Given the description of an element on the screen output the (x, y) to click on. 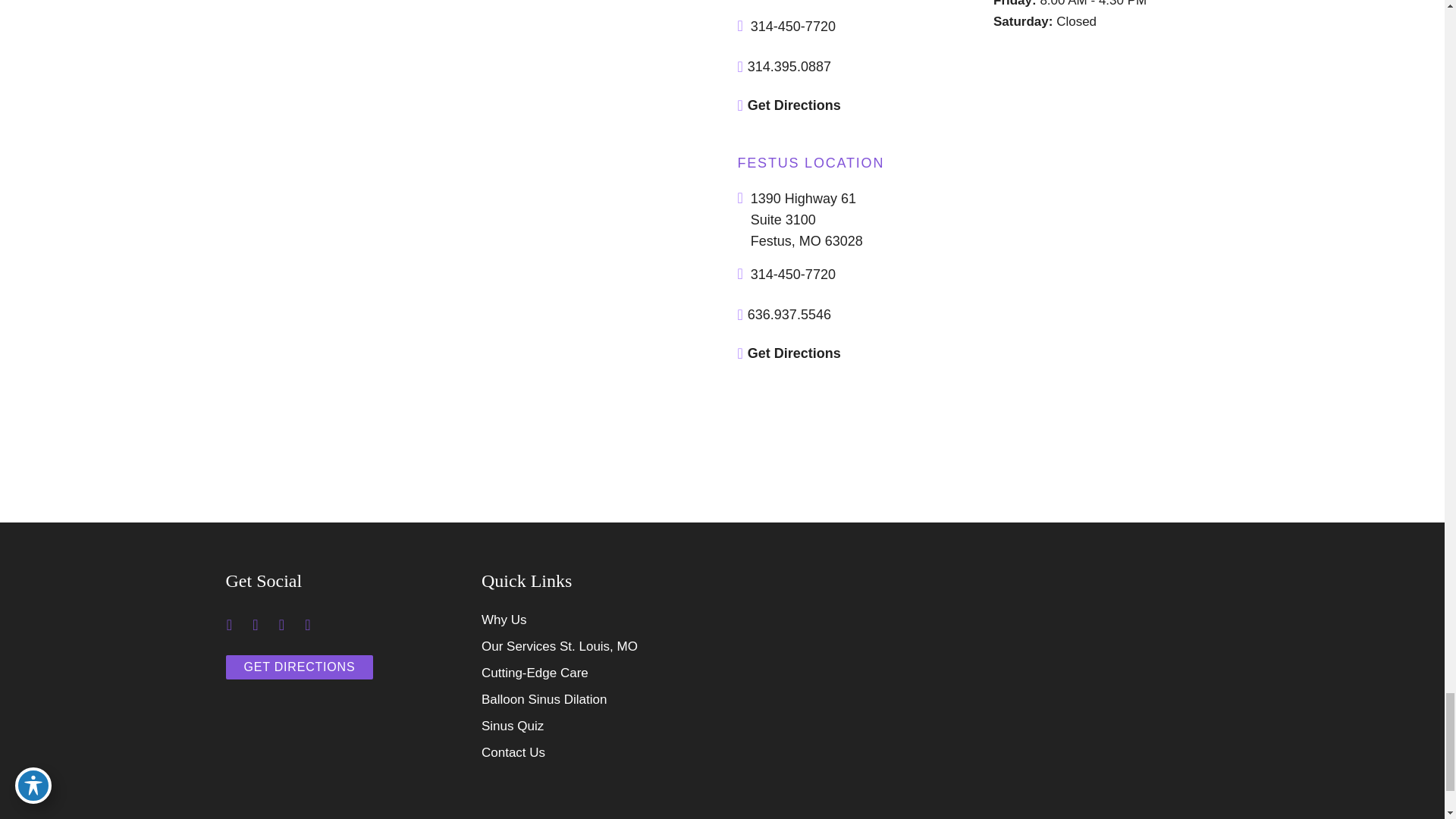
Map Location (972, 627)
Learn more about this location (807, 219)
